Given the description of an element on the screen output the (x, y) to click on. 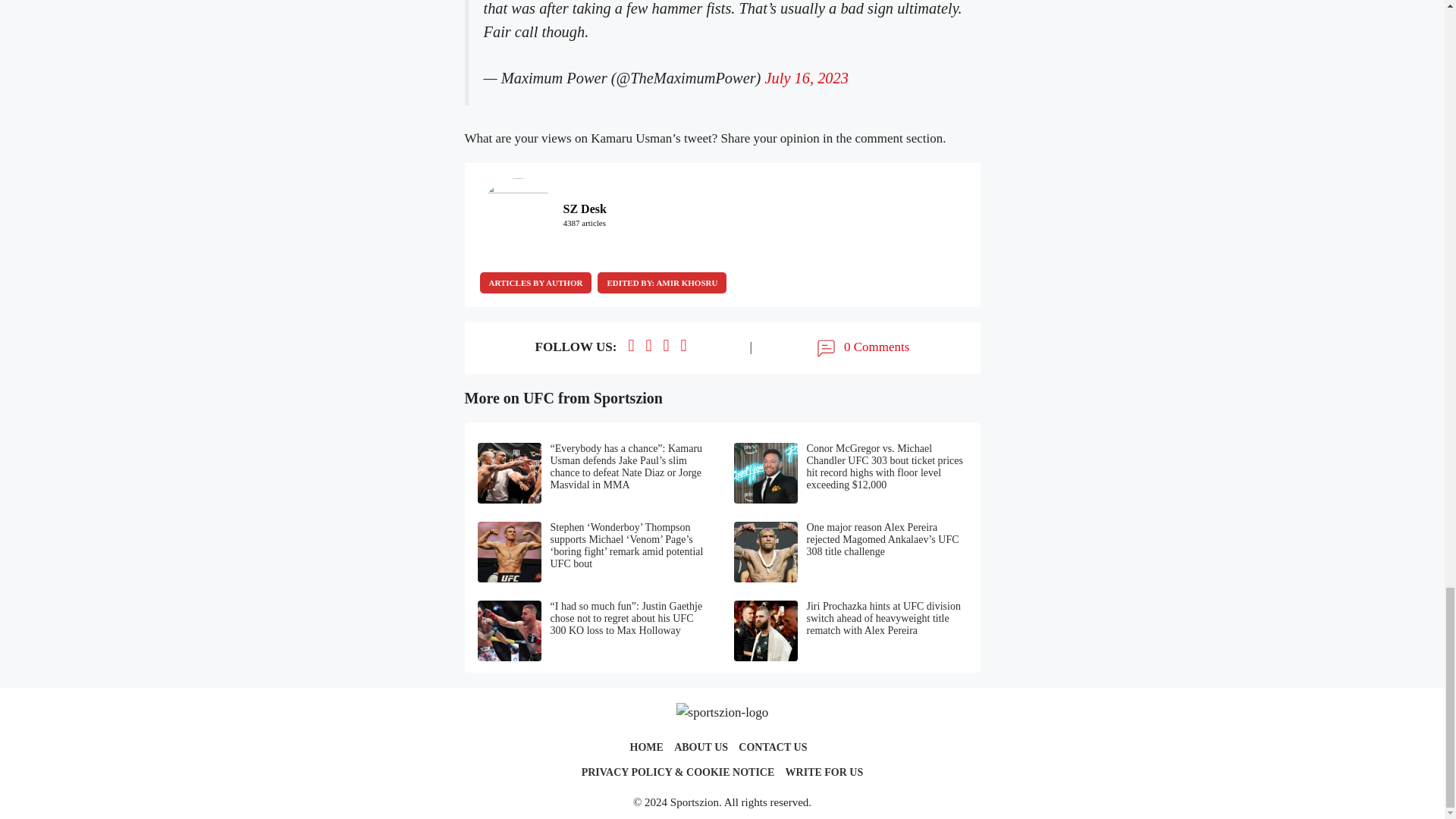
ARTICLES BY AUTHOR (535, 282)
EDITED BY: AMIR KHOSRU (661, 282)
0 Comments (861, 346)
July 16, 2023 (806, 77)
